Given the description of an element on the screen output the (x, y) to click on. 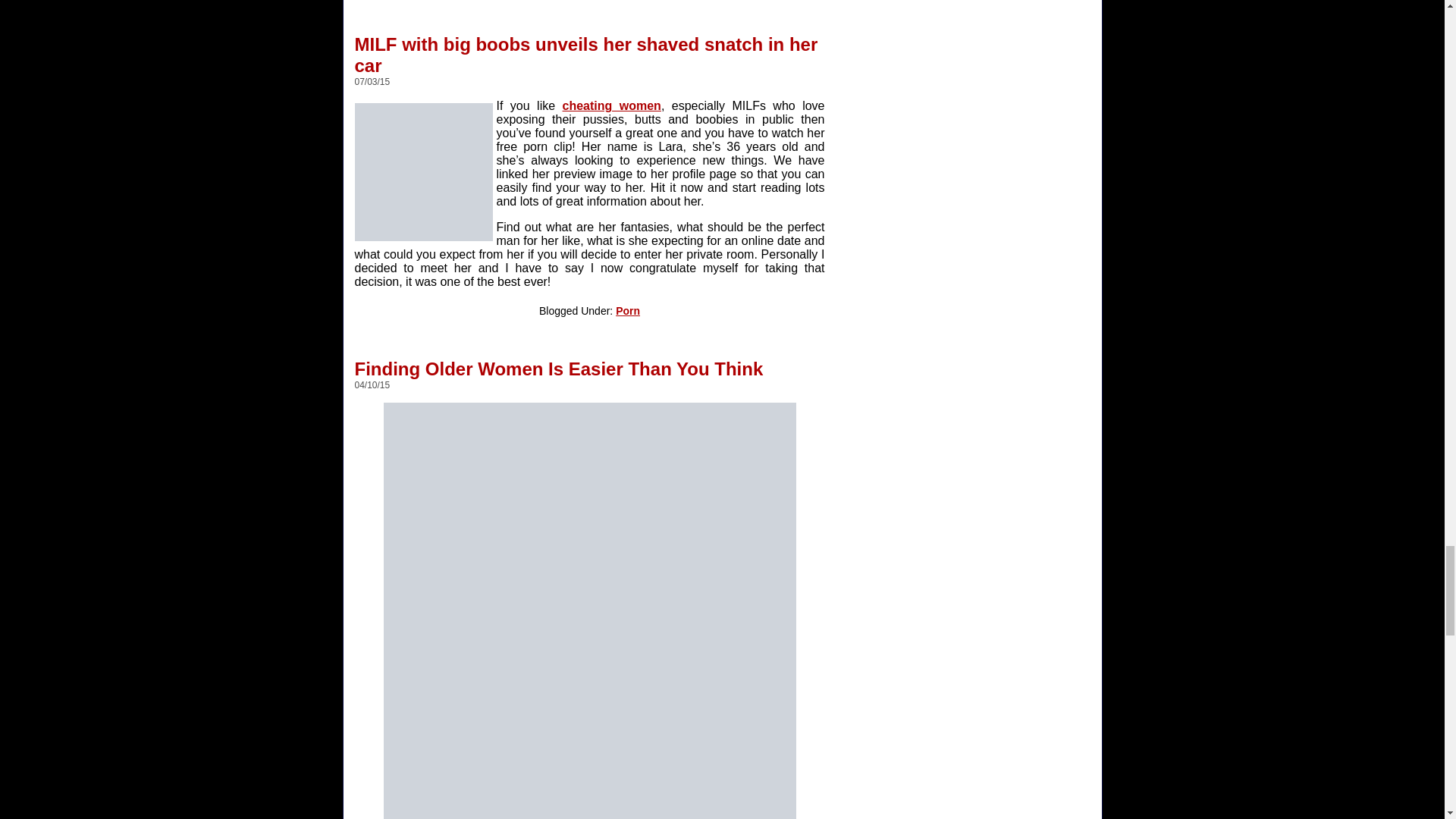
Finding Older Women Is Easier Than You Think (558, 363)
shaved (424, 171)
cheating women (611, 105)
Porn (627, 310)
MILF with big boobs unveils her shaved snatch in her car (586, 49)
